Given the description of an element on the screen output the (x, y) to click on. 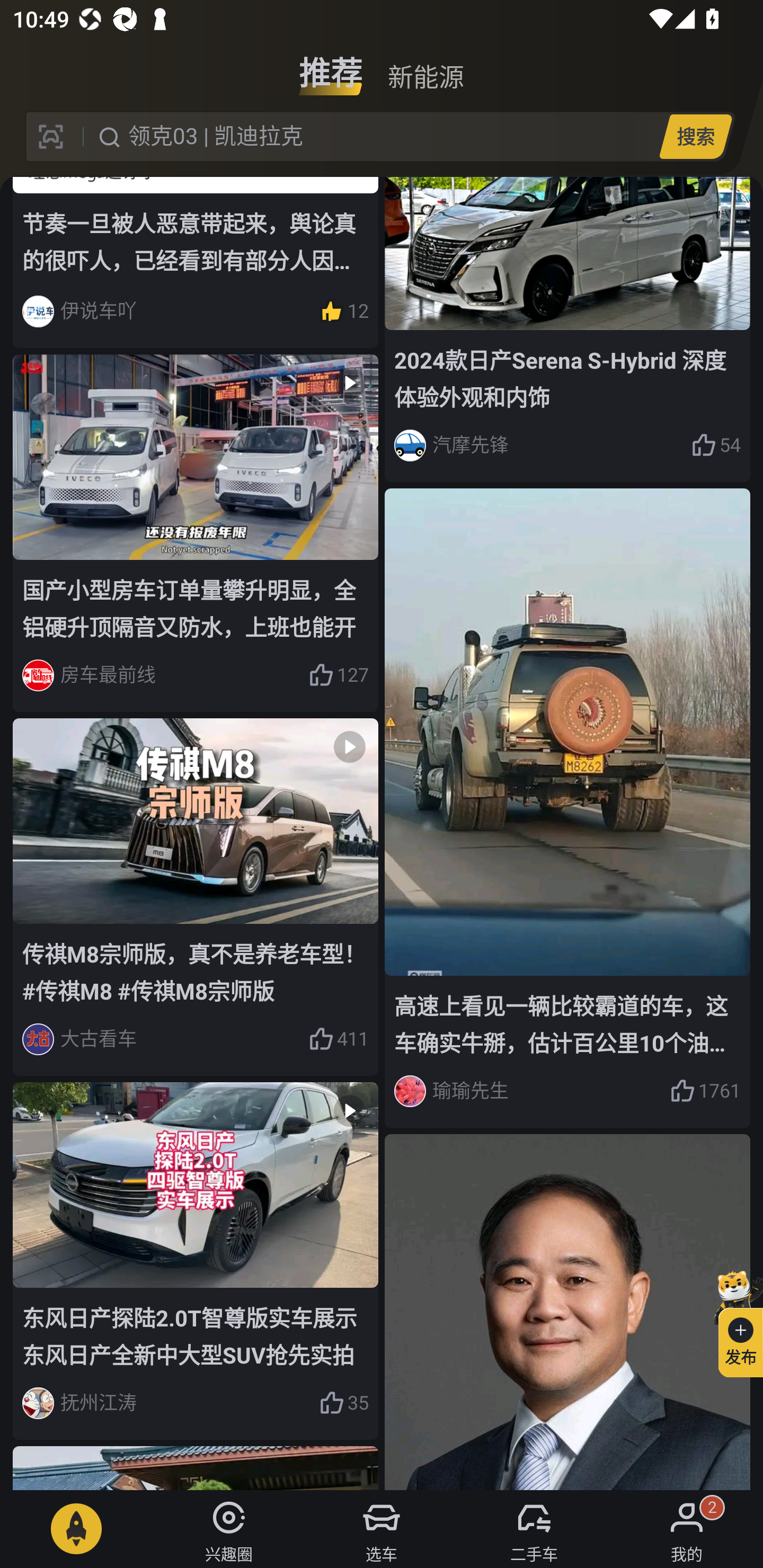
推荐 (330, 65)
新能源 (425, 65)
搜索 (695, 136)
2024款日产Serena S-Hybrid 深度体验外观和内饰 汽摩先锋 54 (567, 329)
12 (343, 310)
 国产小型房车订单量攀升明显，全铝硬升顶隔音又防水，上班也能开 房车最前线 127 (195, 532)
54 (715, 444)
高速上看见一辆比较霸道的车，这车确实牛掰，估计百公里10个油不够用。 瑜瑜先生 1761 (567, 807)
127 (338, 675)
 传祺M8宗师版，真不是养老车型！#传祺M8 #传祺M8宗师版 大古看车 411 (195, 896)
411 (338, 1039)
1761 (704, 1090)
 东风日产探陆2.0T智尊版实车展示 东风日产全新中大型SUV抢先实拍 抚州江涛 35 (195, 1260)
发布 (732, 1321)
35 (343, 1402)
 兴趣圈 (228, 1528)
 选车 (381, 1528)
 二手车 (533, 1528)
 我的 (686, 1528)
